Given the description of an element on the screen output the (x, y) to click on. 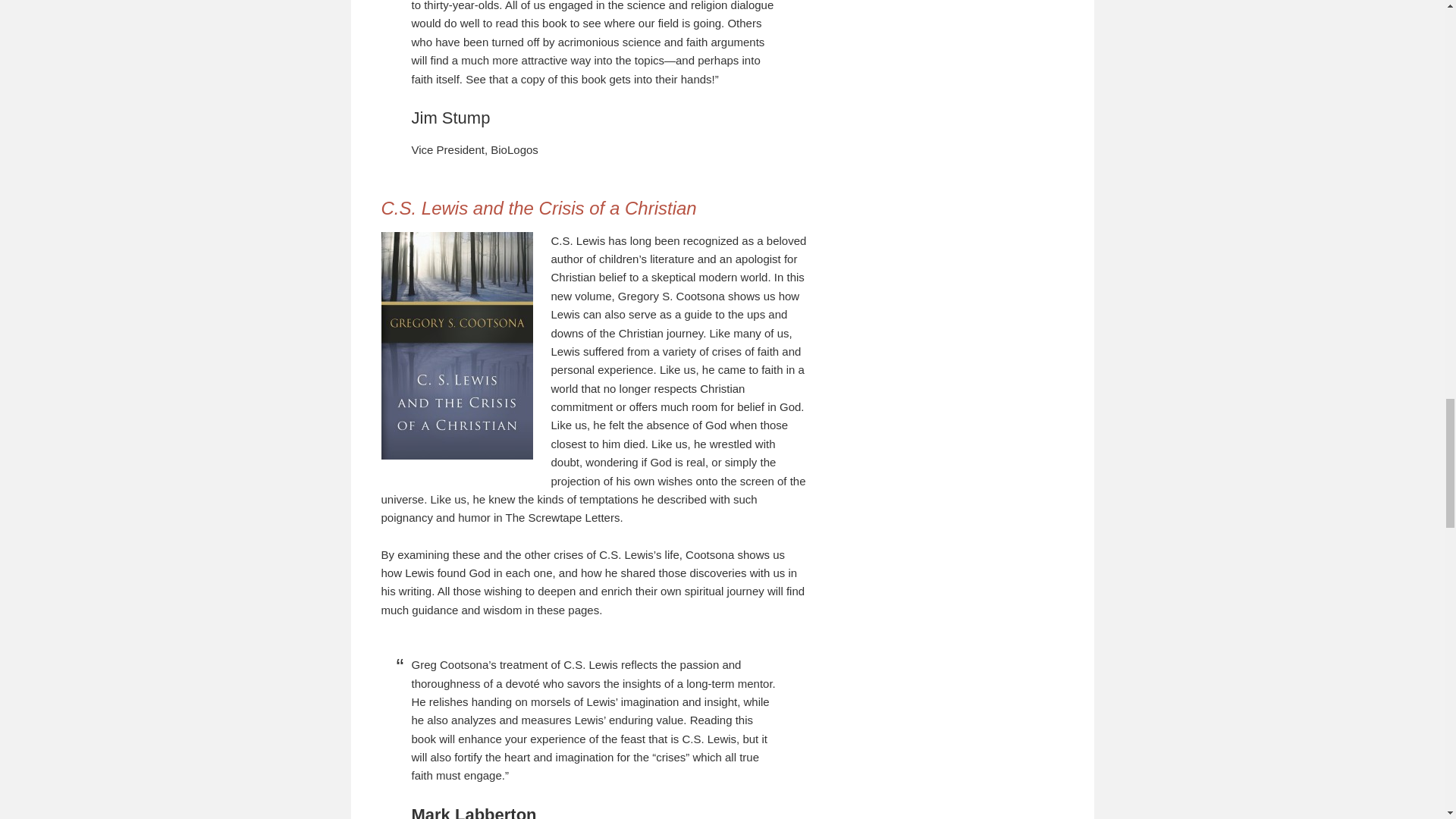
C.S. Lewis and the Crisis of a Christian (537, 208)
